Given the description of an element on the screen output the (x, y) to click on. 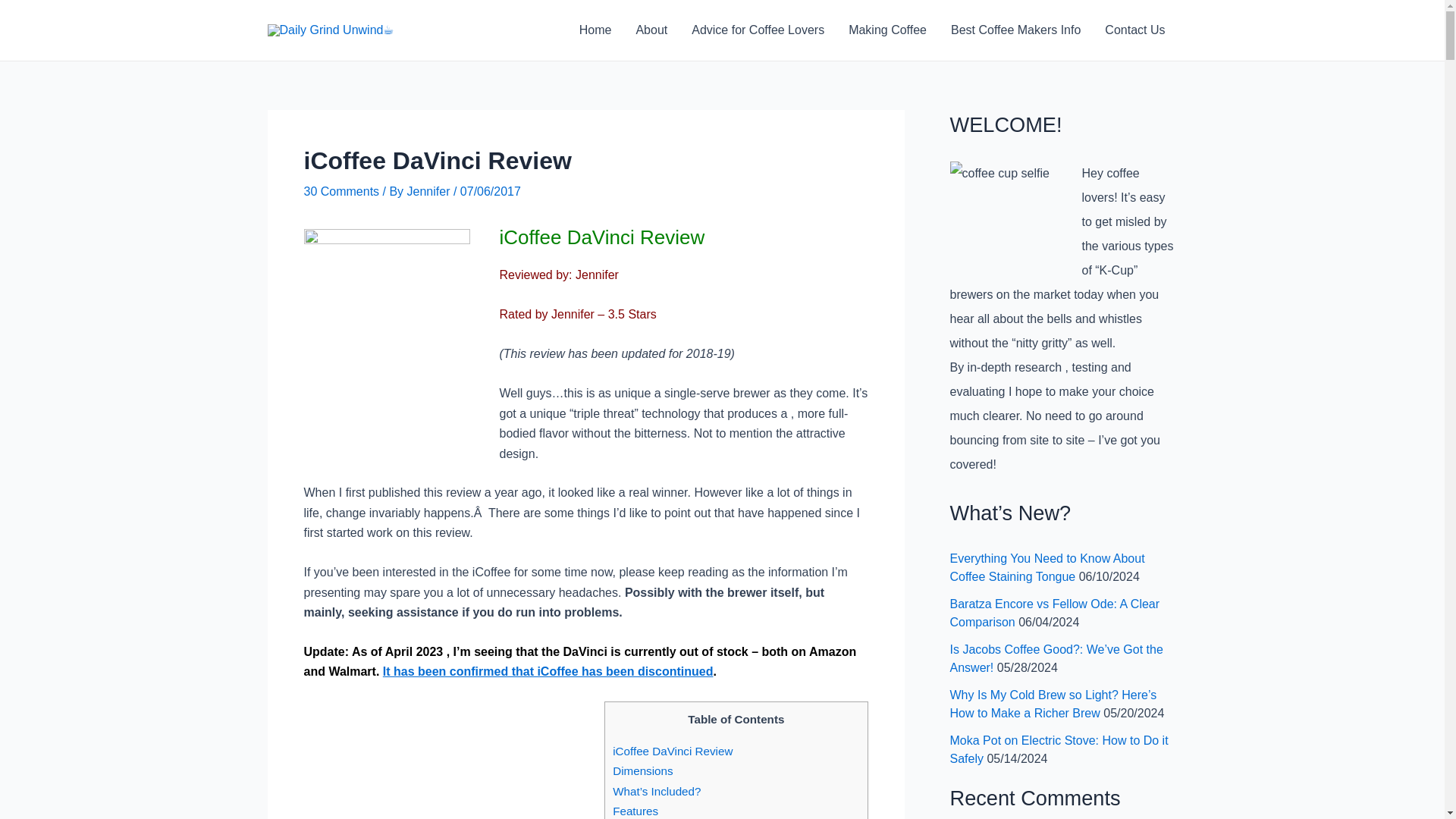
It has been confirmed that iCoffee has been discontinued (547, 671)
View all posts by Jennifer (429, 191)
Advice for Coffee Lovers (757, 30)
Home (595, 30)
Dimensions (642, 770)
Best Coffee Makers Info (1016, 30)
Making Coffee (887, 30)
Contact Us (1134, 30)
iCoffee DaVinci Review (672, 750)
About (651, 30)
Features (635, 810)
Jennifer (429, 191)
30 Comments (340, 191)
